Given the description of an element on the screen output the (x, y) to click on. 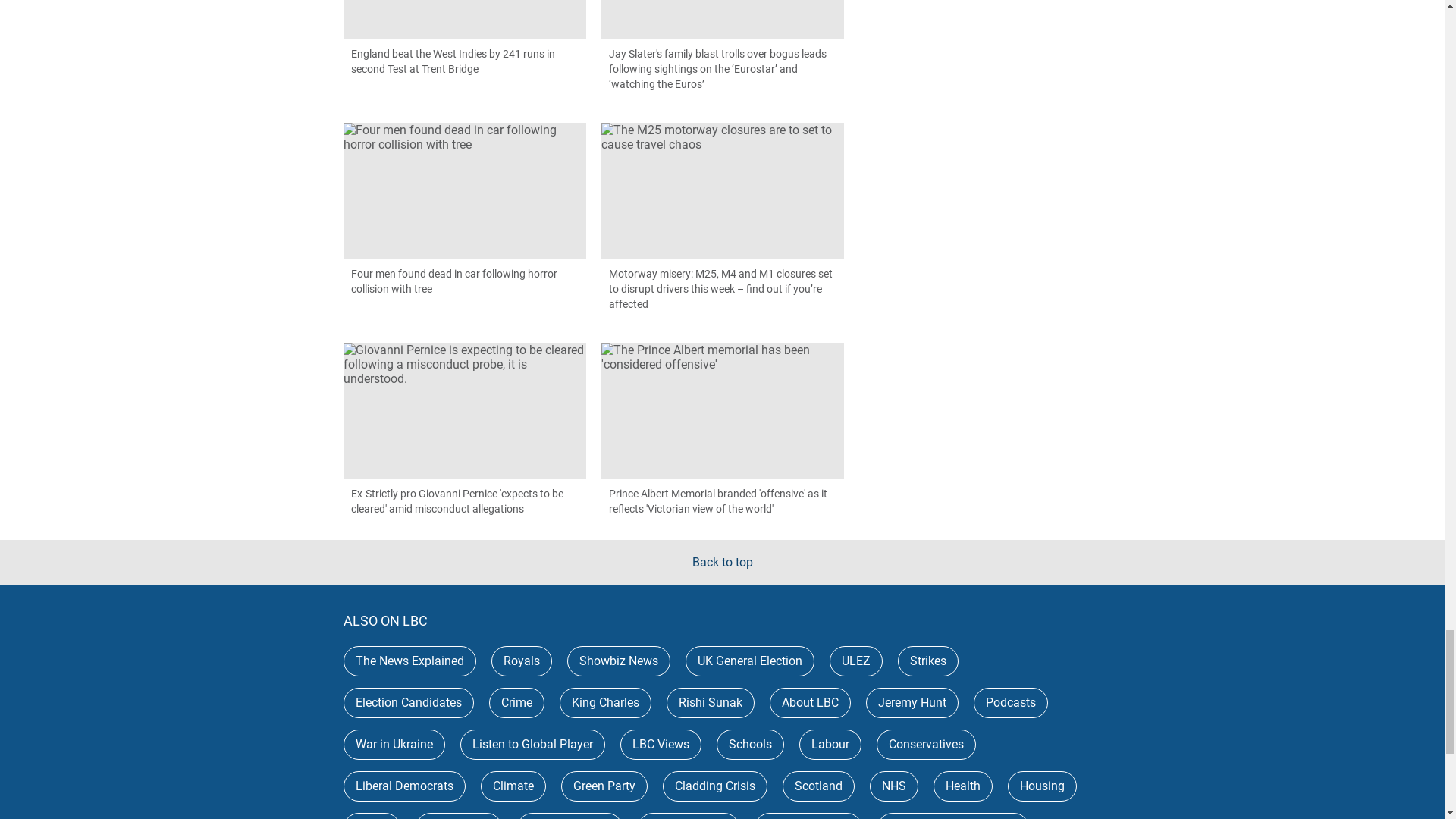
Back to top (721, 562)
